Given the description of an element on the screen output the (x, y) to click on. 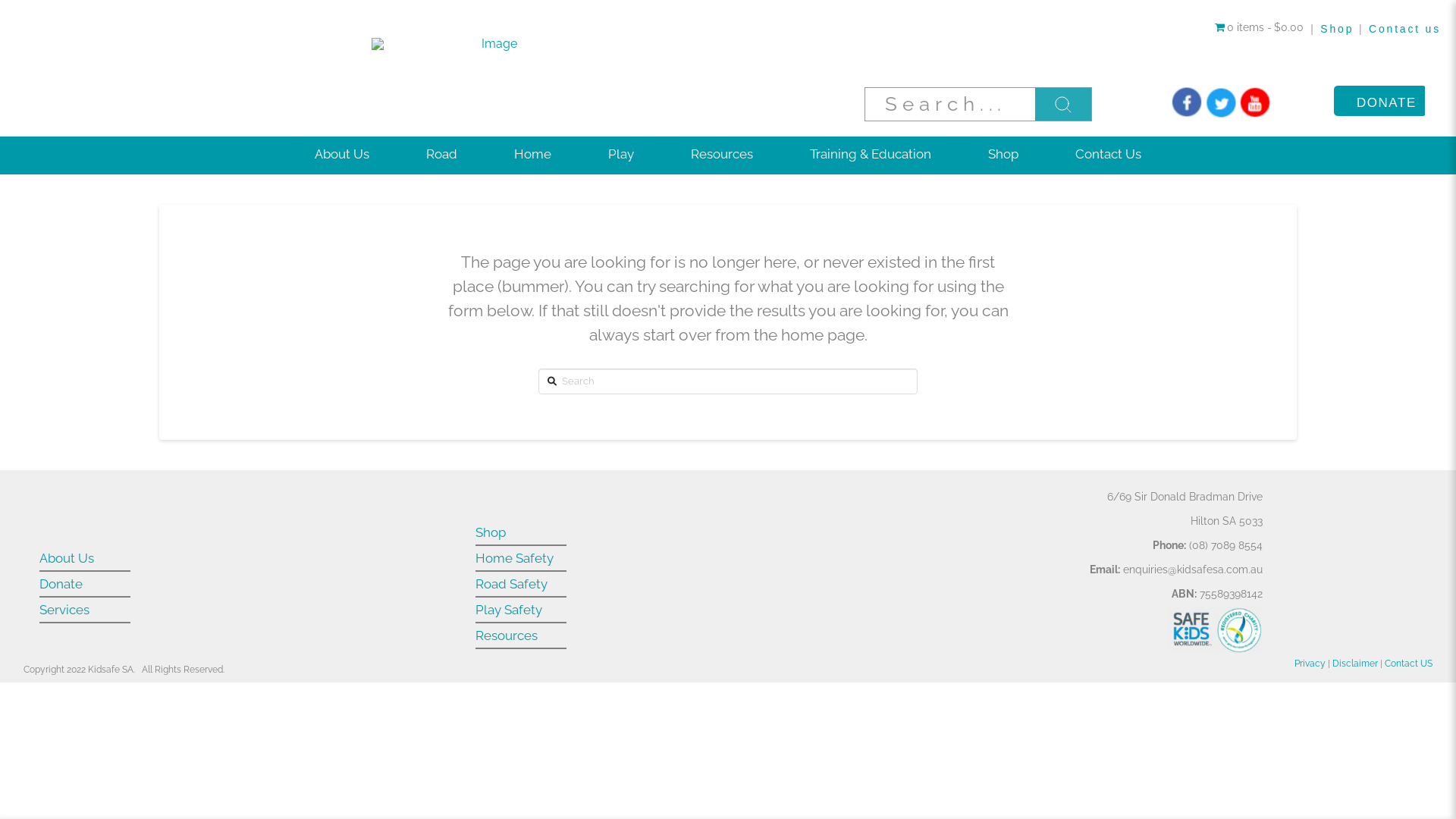
Contact US Element type: text (1408, 663)
Road Safety Element type: text (511, 583)
DONATE Element type: text (1378, 99)
About Us Element type: text (66, 557)
Contact Us Element type: text (1108, 154)
Donate Element type: text (60, 583)
Home Safety Element type: text (514, 557)
Resources Element type: text (721, 154)
Privacy Element type: text (1309, 663)
Shop Element type: text (1336, 28)
About Us Element type: text (341, 154)
Play Element type: text (620, 154)
0 items$0.00 Element type: text (1259, 27)
Road Element type: text (441, 154)
Contact us Element type: text (1404, 28)
Training & Education Element type: text (870, 154)
Play Safety Element type: text (508, 609)
Disclaimer Element type: text (1354, 663)
Resources Element type: text (506, 635)
Services Element type: text (64, 609)
Submit Element type: text (1062, 104)
Home Element type: text (532, 154)
Shop Element type: text (1003, 154)
Shop Element type: text (490, 531)
